Given the description of an element on the screen output the (x, y) to click on. 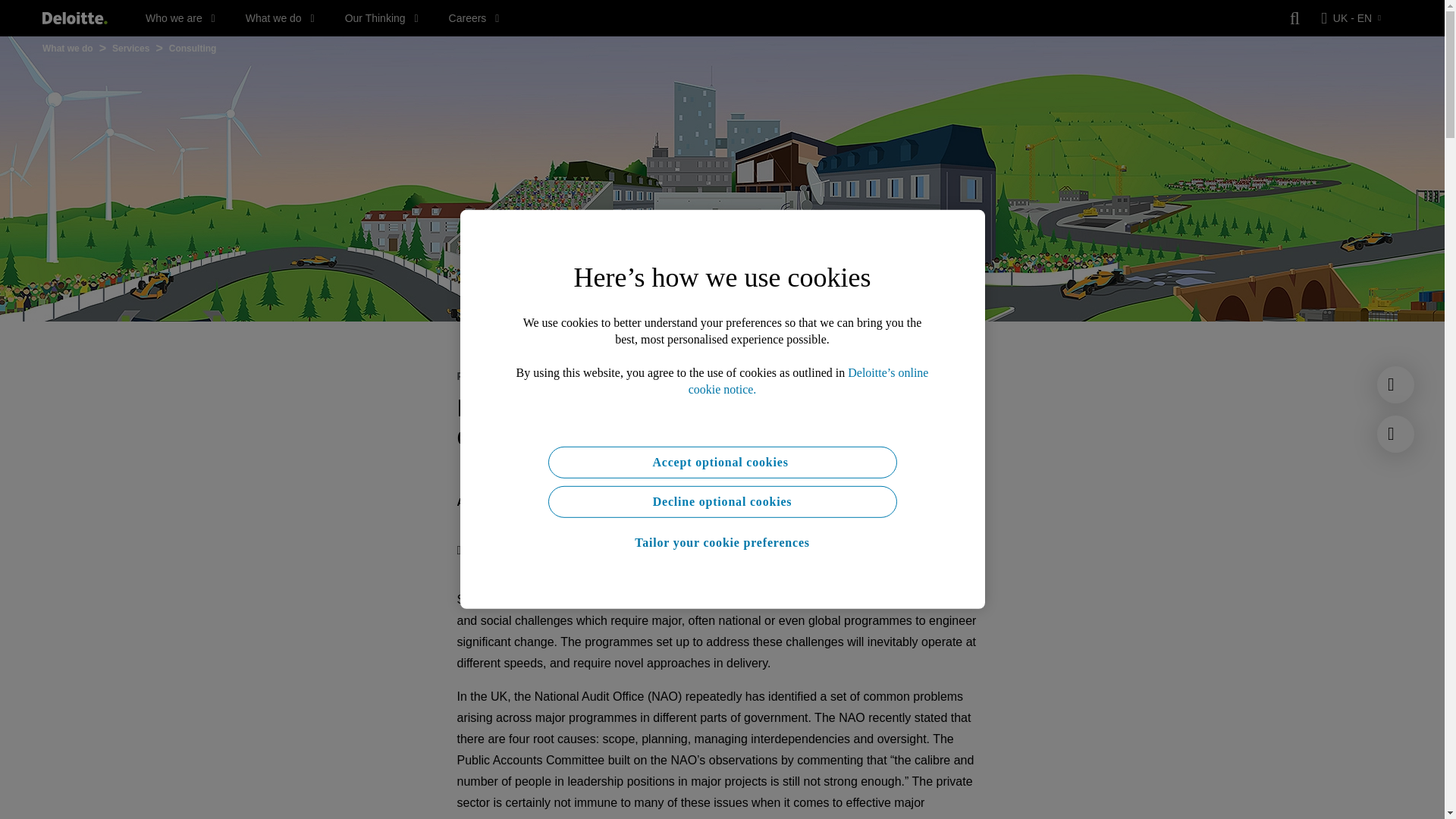
share via facebook (588, 550)
share via twitter (528, 550)
What we do (280, 18)
share via email (619, 550)
Who we are (180, 18)
Careers (473, 18)
Deloitte (74, 18)
Our Thinking (382, 18)
Print (474, 550)
share via linkedin (558, 550)
